Given the description of an element on the screen output the (x, y) to click on. 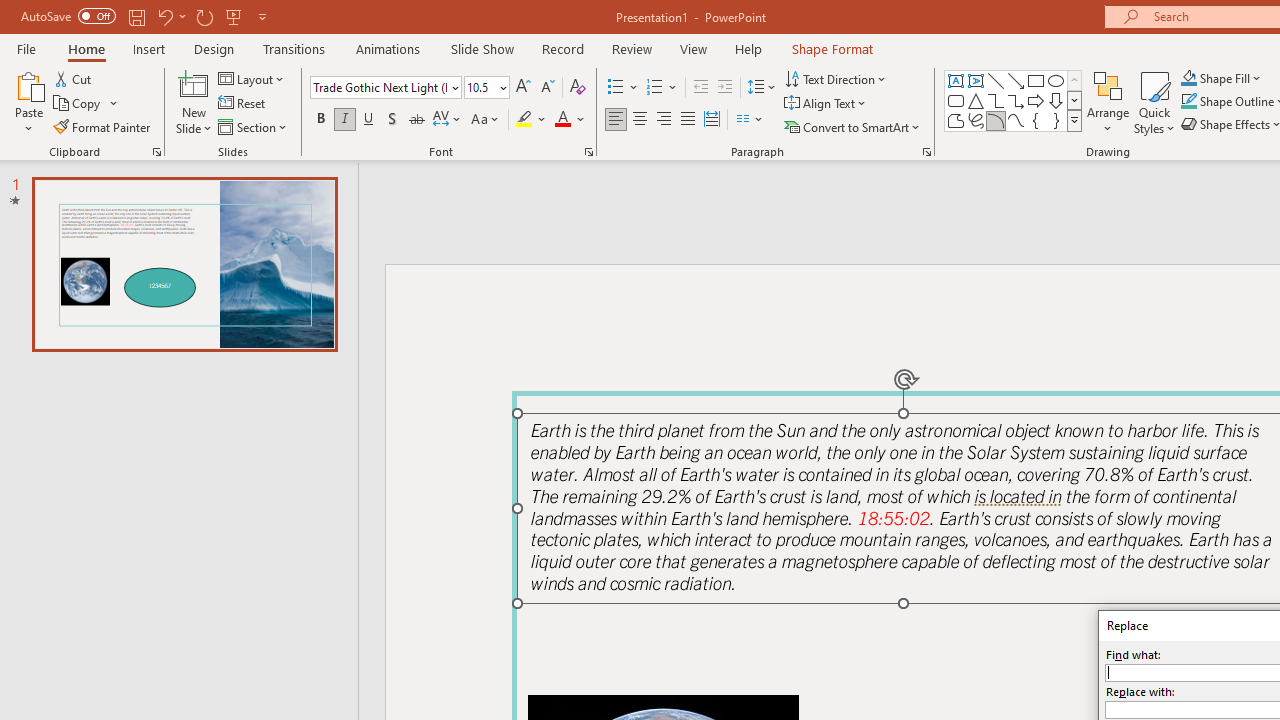
Columns (750, 119)
Shape Fill Aqua, Accent 2 (1188, 78)
Section (254, 126)
Freeform: Scribble (975, 120)
Shape Outline Teal, Accent 1 (1188, 101)
Increase Indent (725, 87)
Curve (1016, 120)
